Given the description of an element on the screen output the (x, y) to click on. 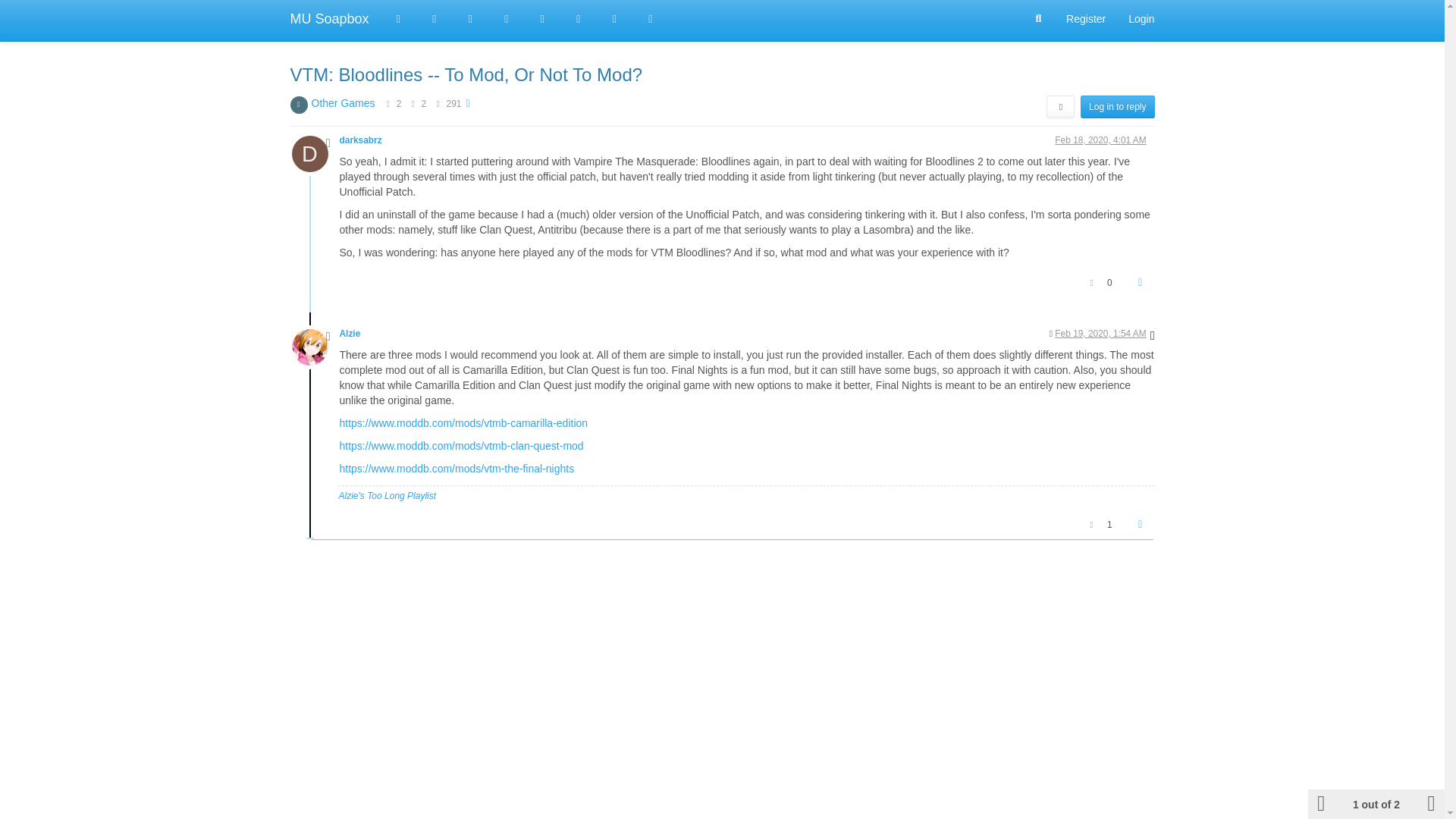
Register (1085, 18)
Login (1141, 18)
Log in to reply (1117, 106)
Other Games (342, 102)
Search (1038, 18)
